Given the description of an element on the screen output the (x, y) to click on. 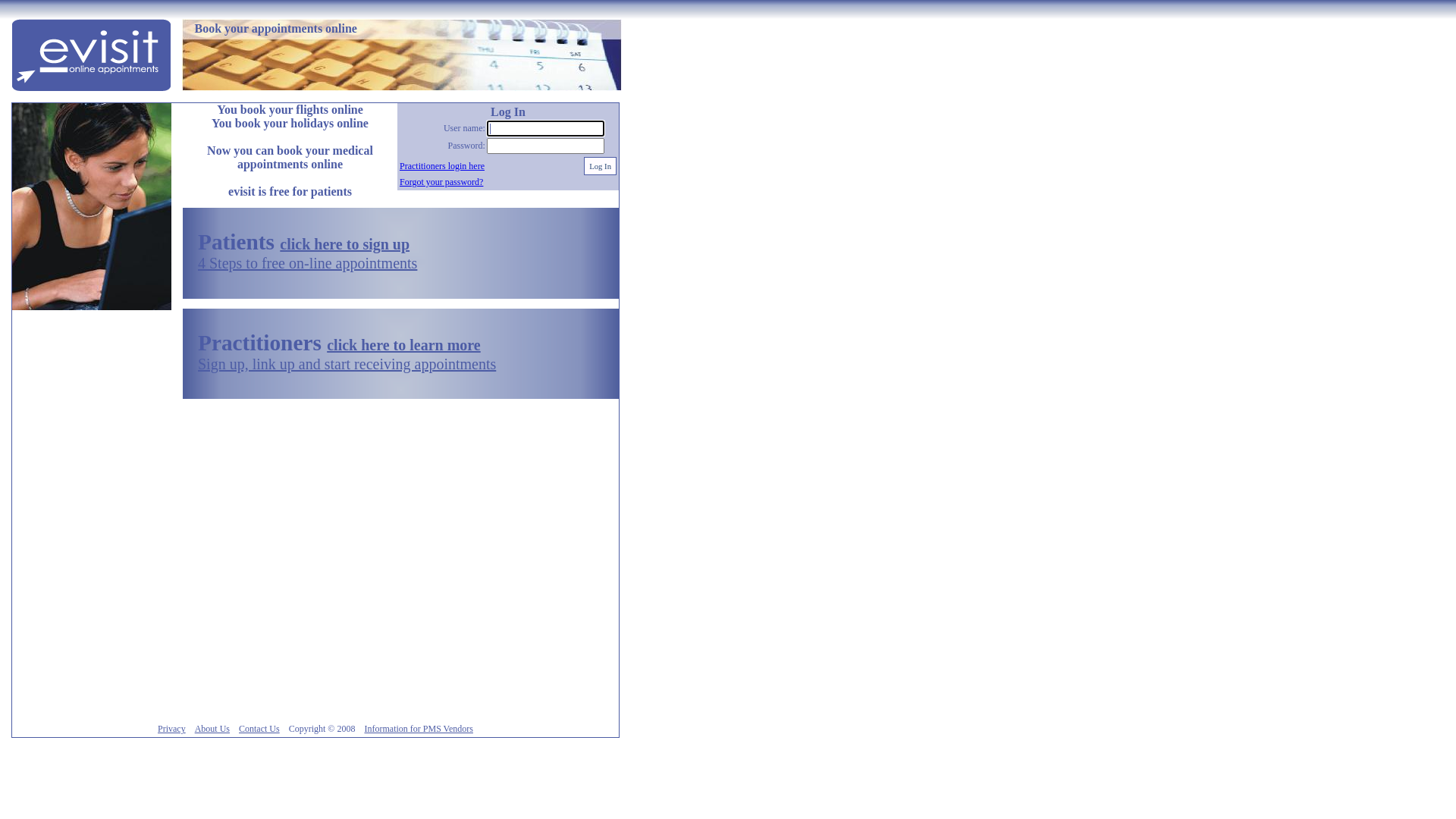
Information for PMS Vendors Element type: text (418, 728)
click here to learn more Element type: text (403, 344)
Log In Element type: text (599, 165)
4 Steps to free on-line appointments Element type: text (307, 262)
Privacy Element type: text (171, 728)
Contact Us Element type: text (258, 728)
About Us Element type: text (211, 728)
Forgot your password? Element type: text (441, 181)
Sign up, link up and start receiving appointments Element type: text (346, 363)
click here to sign up Element type: text (344, 243)
Practitioners login here Element type: text (441, 165)
